Given the description of an element on the screen output the (x, y) to click on. 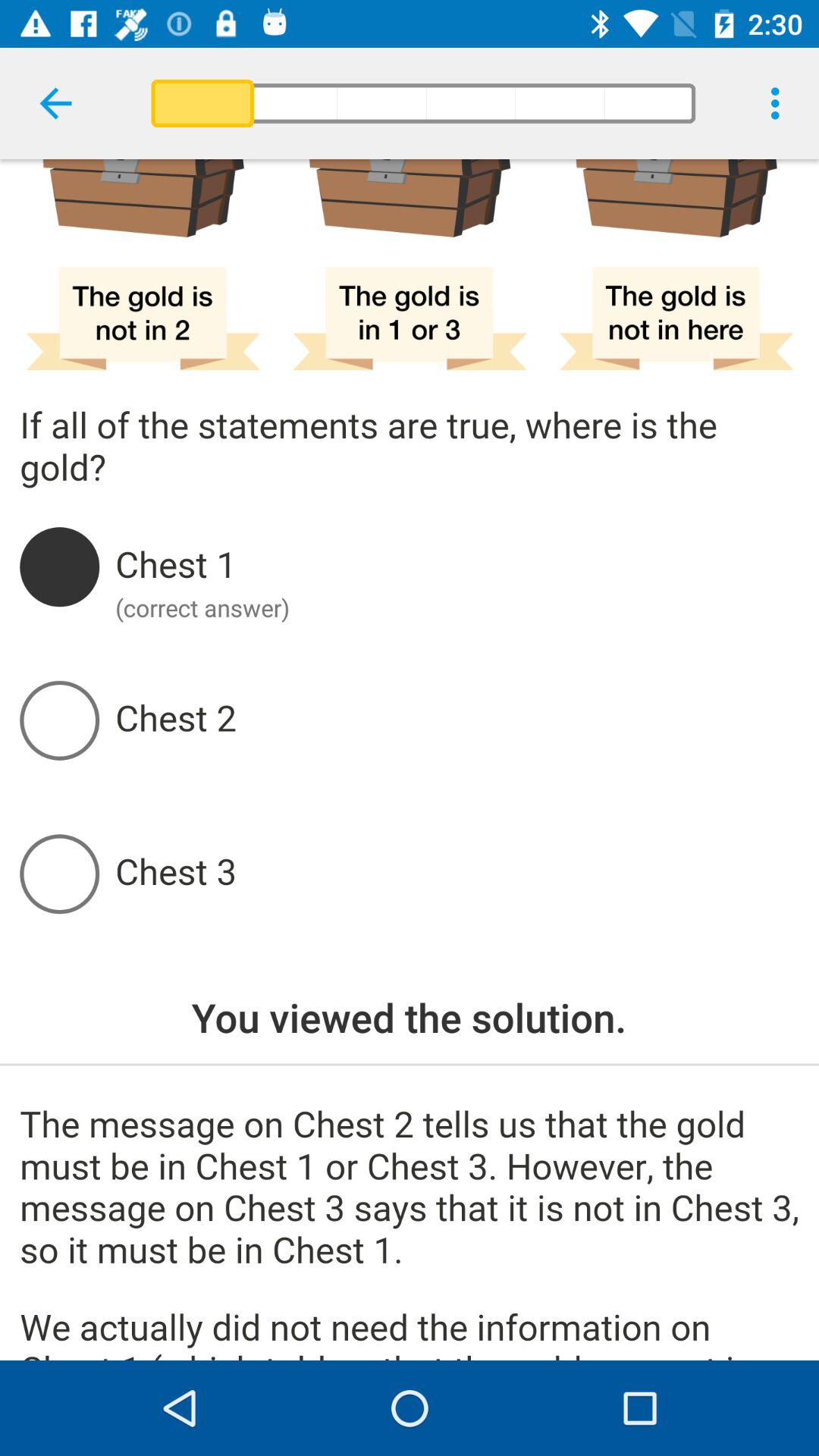
select button (457, 873)
